Given the description of an element on the screen output the (x, y) to click on. 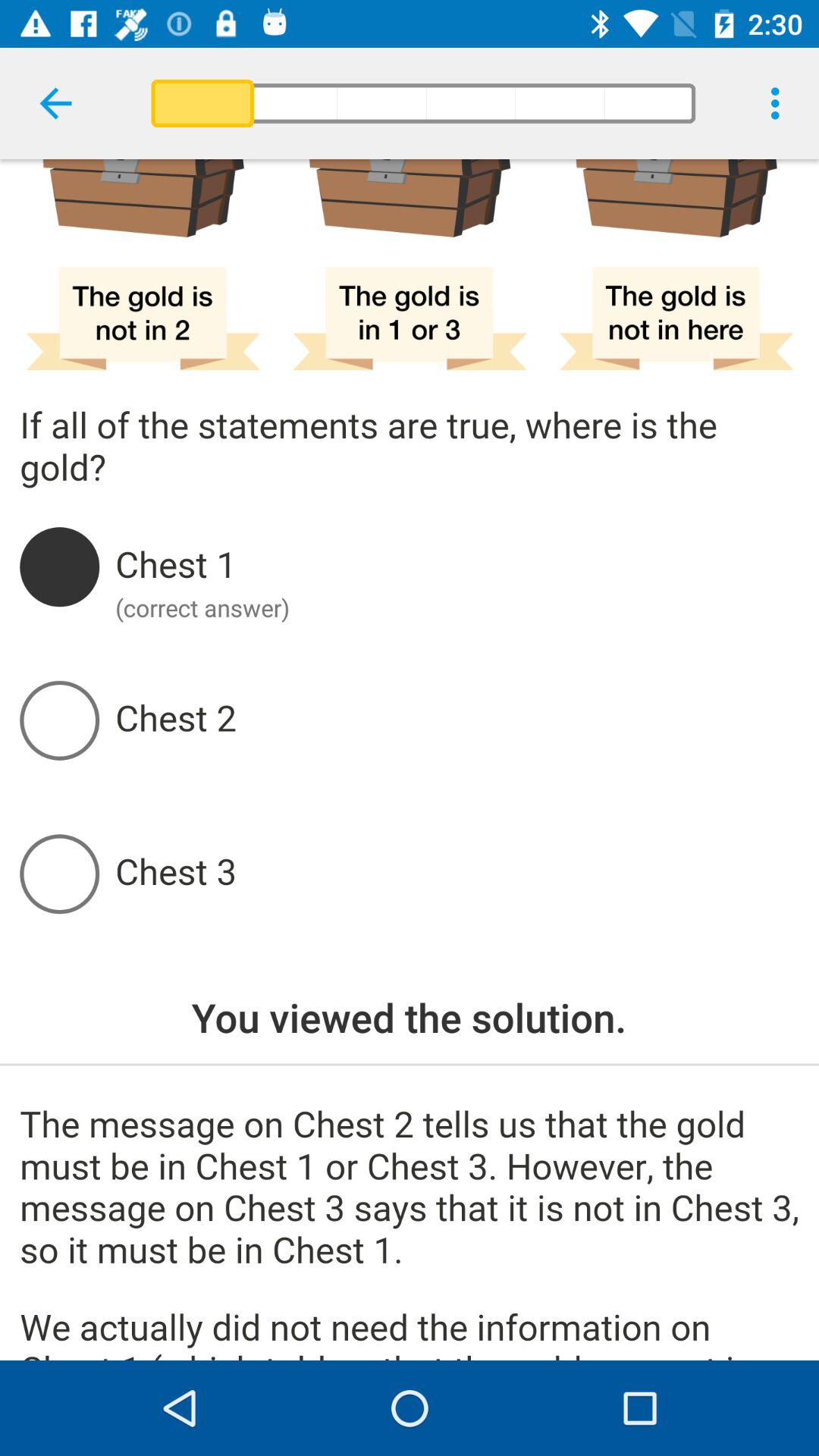
select button (457, 873)
